Given the description of an element on the screen output the (x, y) to click on. 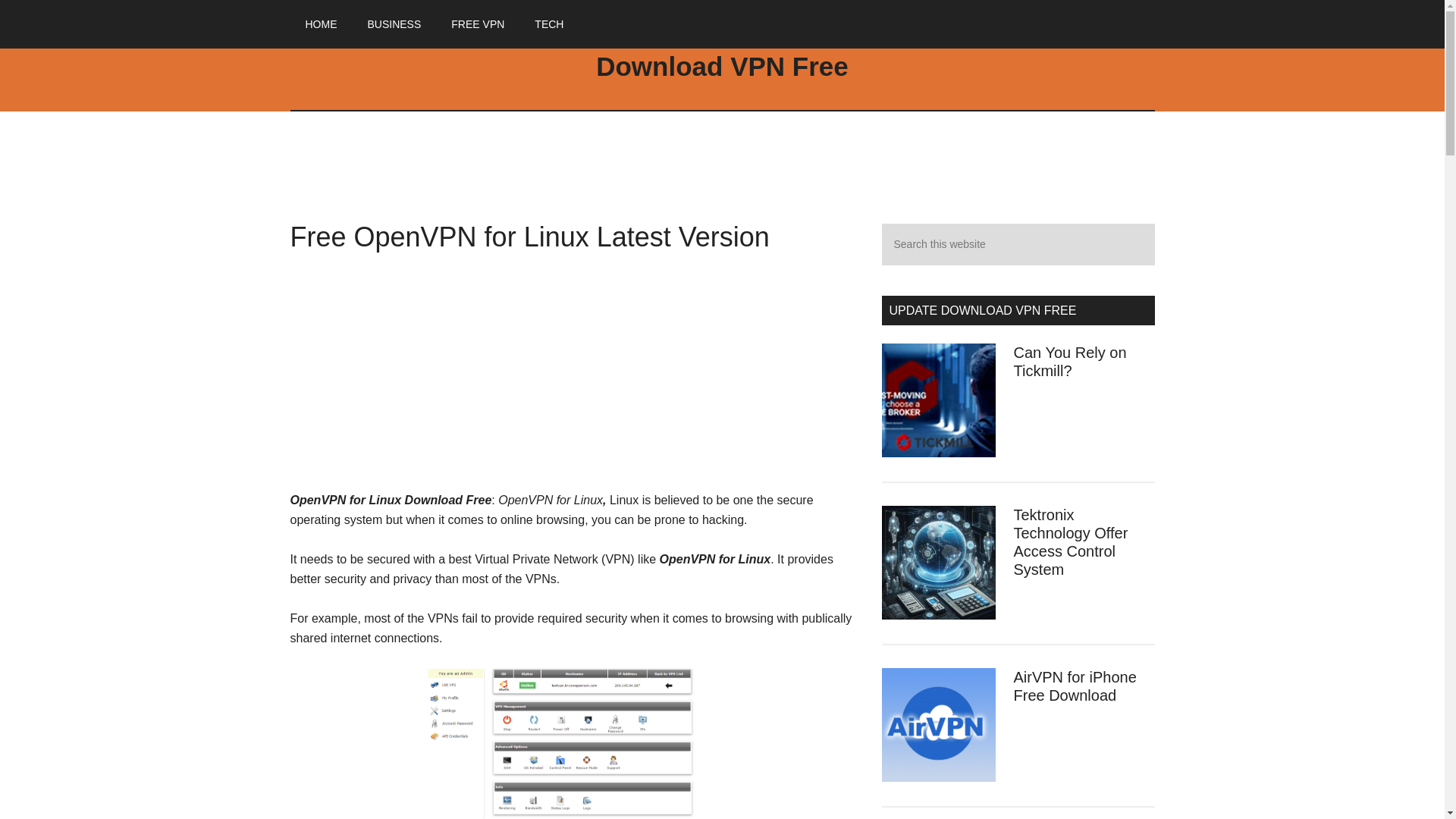
Can You Rely on Tickmill? (1069, 361)
FREE VPN (477, 24)
Advertisement (722, 179)
OpenVPN for Linux (574, 743)
Download VPN Free (721, 66)
AirVPN for iPhone Free Download (1074, 686)
HOME (320, 24)
Advertisement (574, 377)
BUSINESS (393, 24)
Tektronix Technology Offer Access Control System (1069, 542)
TECH (548, 24)
